Given the description of an element on the screen output the (x, y) to click on. 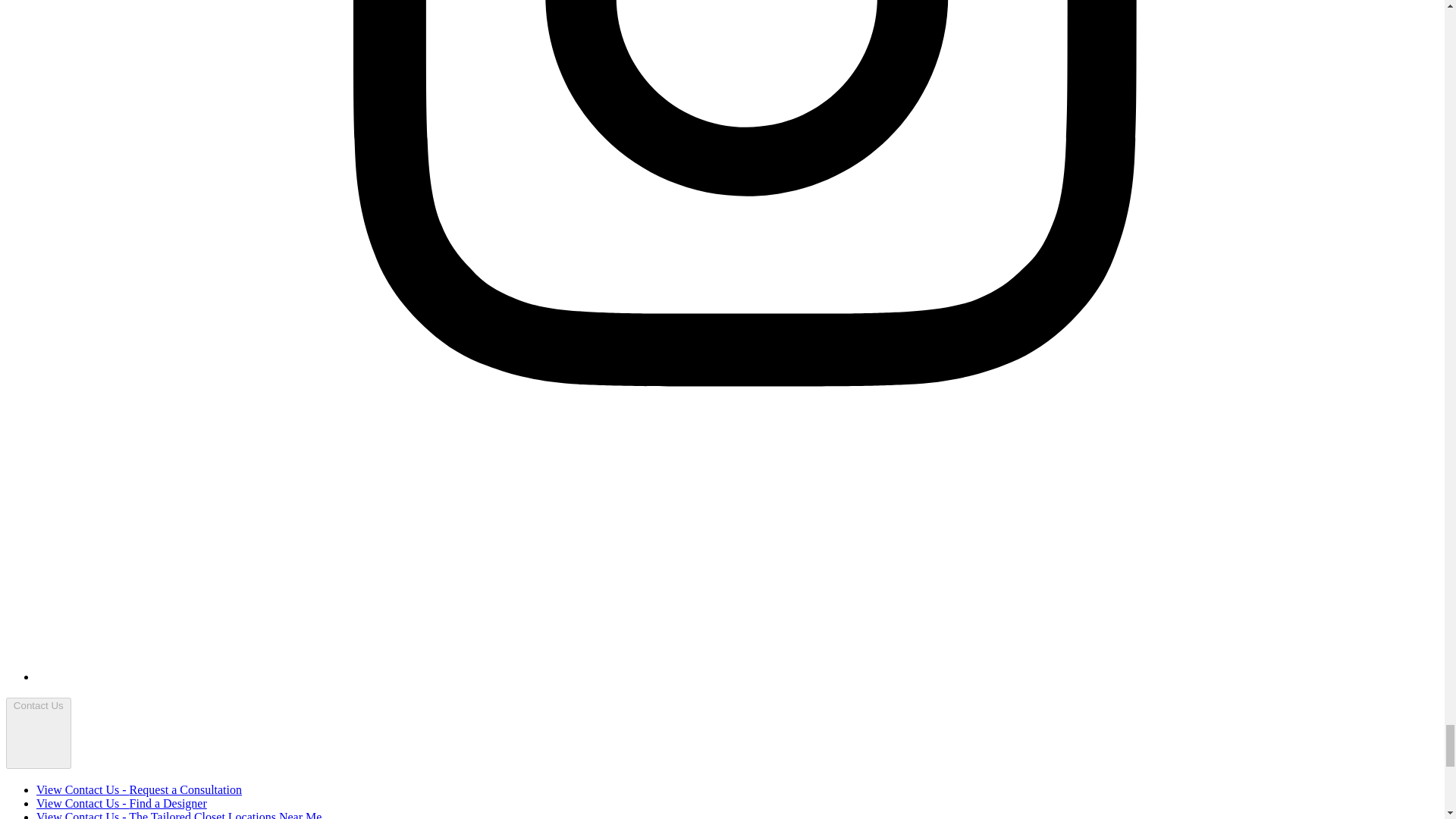
View Contact Us - The Tailored Closet Locations Near Me (178, 814)
View Contact Us - Request a Consultation (138, 789)
View Contact Us - Find a Designer (121, 802)
